Given the description of an element on the screen output the (x, y) to click on. 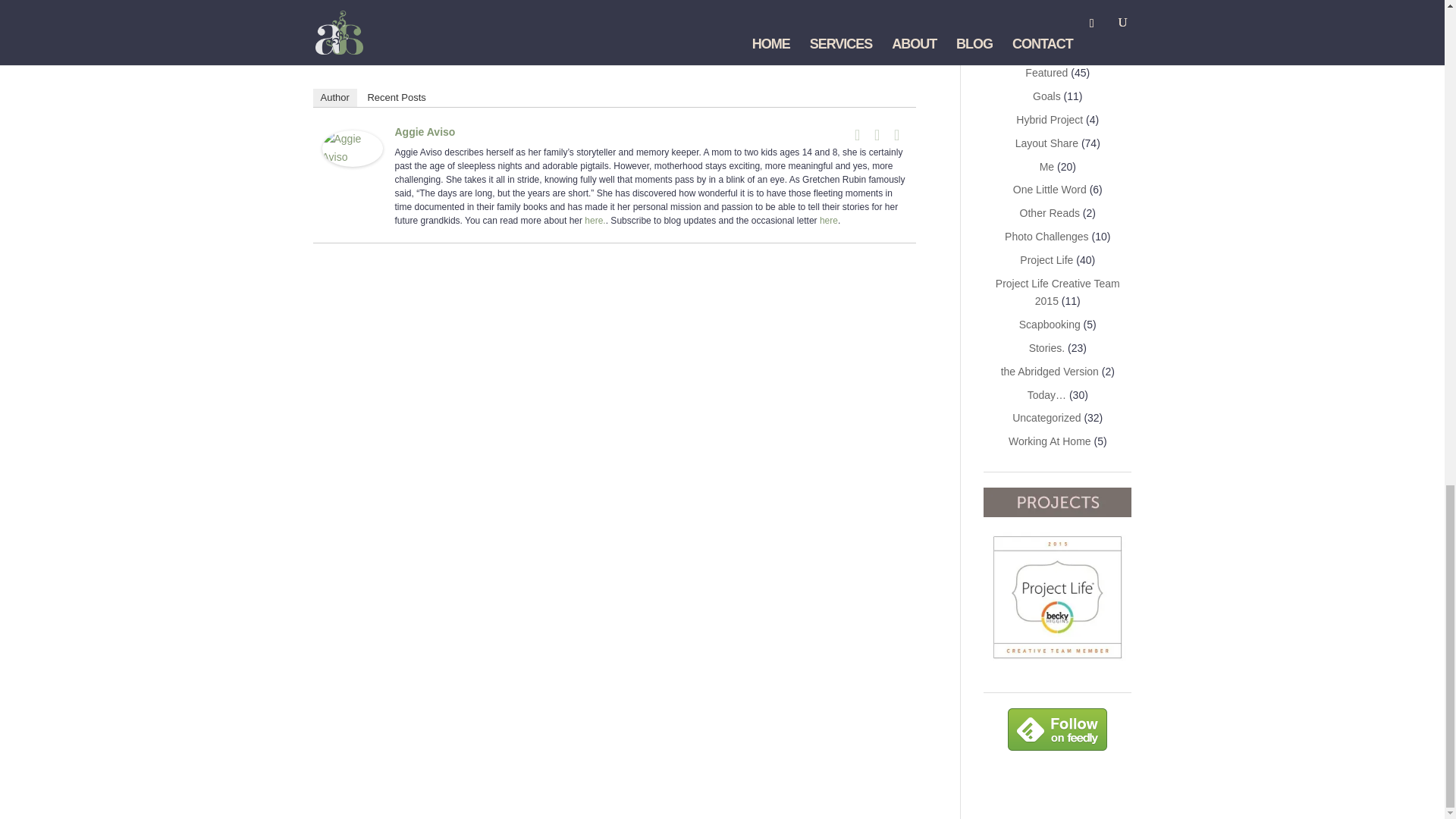
LinkedIn (876, 135)
Instagram (896, 135)
Author (334, 97)
Hybrid Project (1049, 119)
here. (595, 220)
Featured (1046, 72)
Everyday Life (1043, 26)
here (828, 220)
Twitter (857, 135)
Creative Goals (1049, 4)
